Given the description of an element on the screen output the (x, y) to click on. 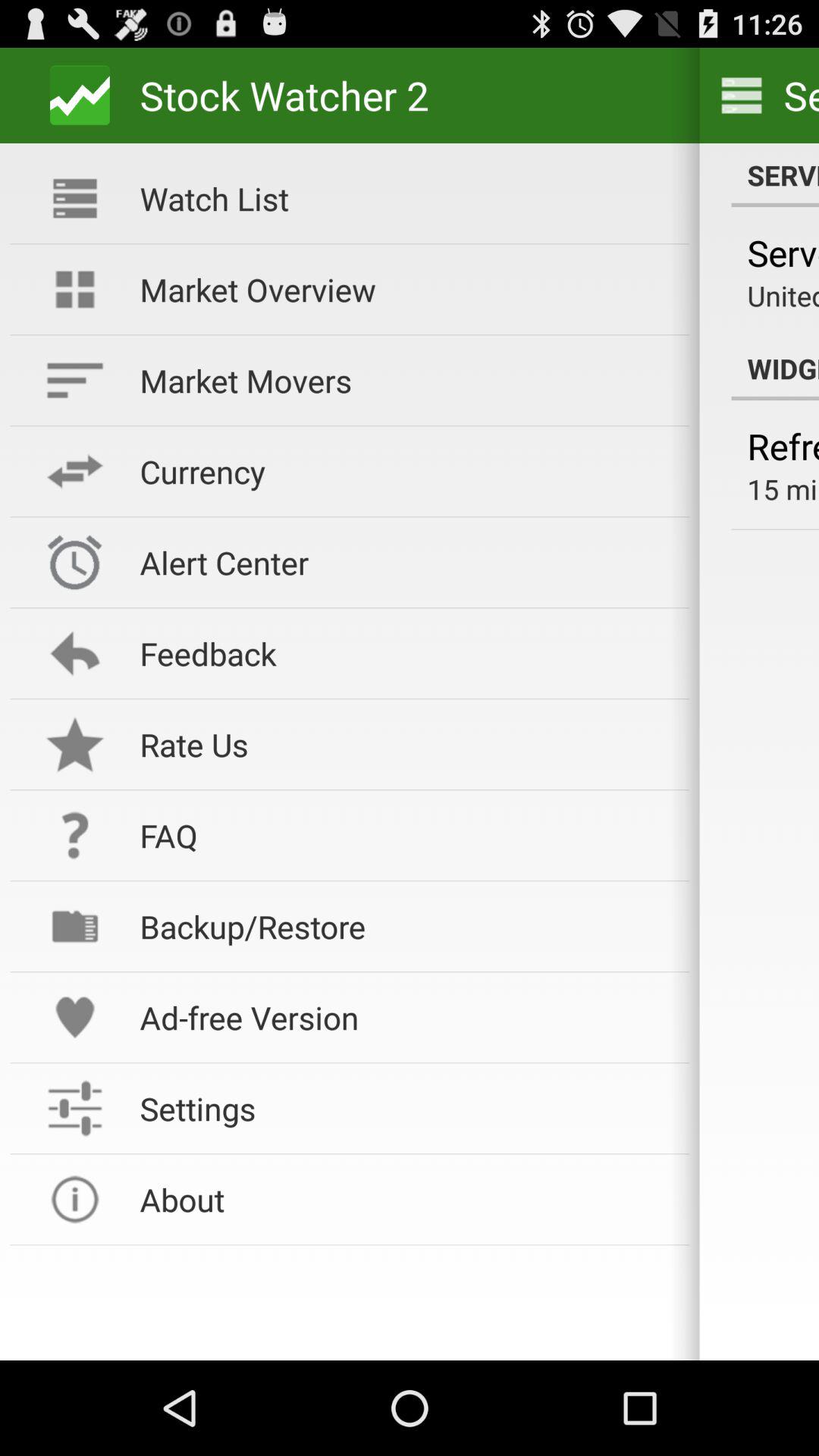
flip to the about item (404, 1199)
